Given the description of an element on the screen output the (x, y) to click on. 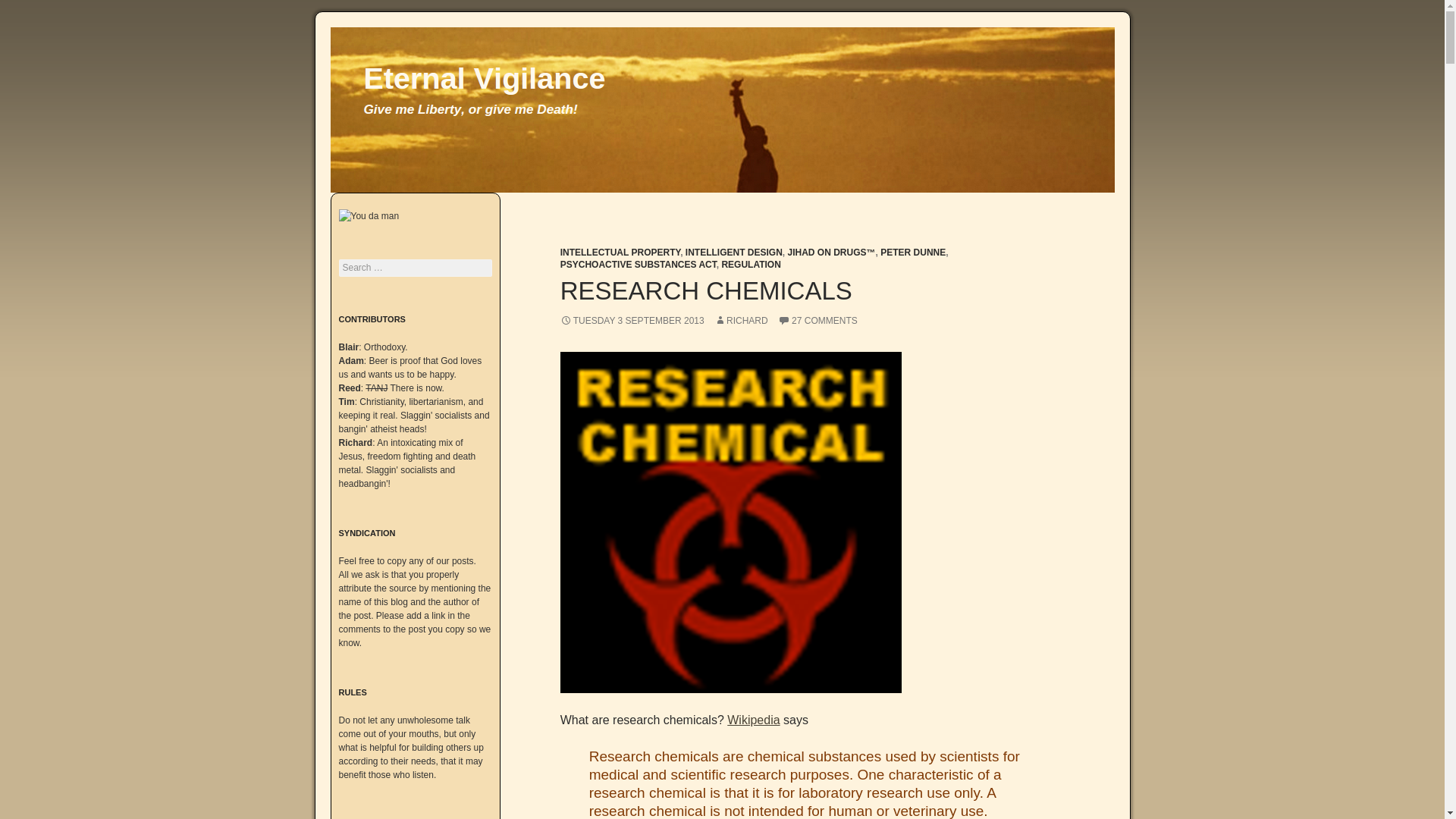
TUESDAY 3 SEPTEMBER 2013 (632, 320)
27 COMMENTS (817, 320)
RICHARD (741, 320)
INTELLECTUAL PROPERTY (619, 252)
INTELLIGENT DESIGN (734, 252)
Wikipedia (752, 719)
REGULATION (750, 264)
PETER DUNNE (912, 252)
PSYCHOACTIVE SUBSTANCES ACT (638, 264)
